Given the description of an element on the screen output the (x, y) to click on. 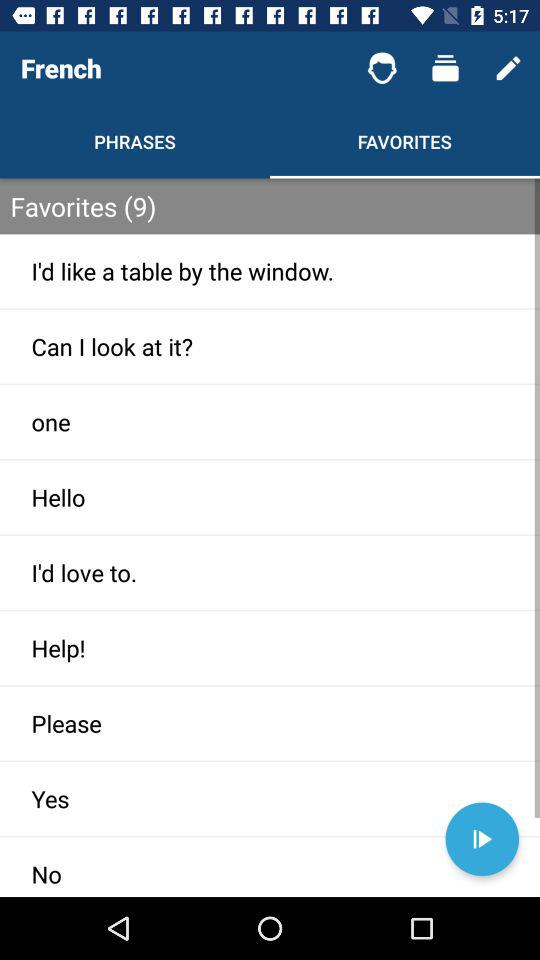
launch the icon above favorites icon (444, 67)
